Given the description of an element on the screen output the (x, y) to click on. 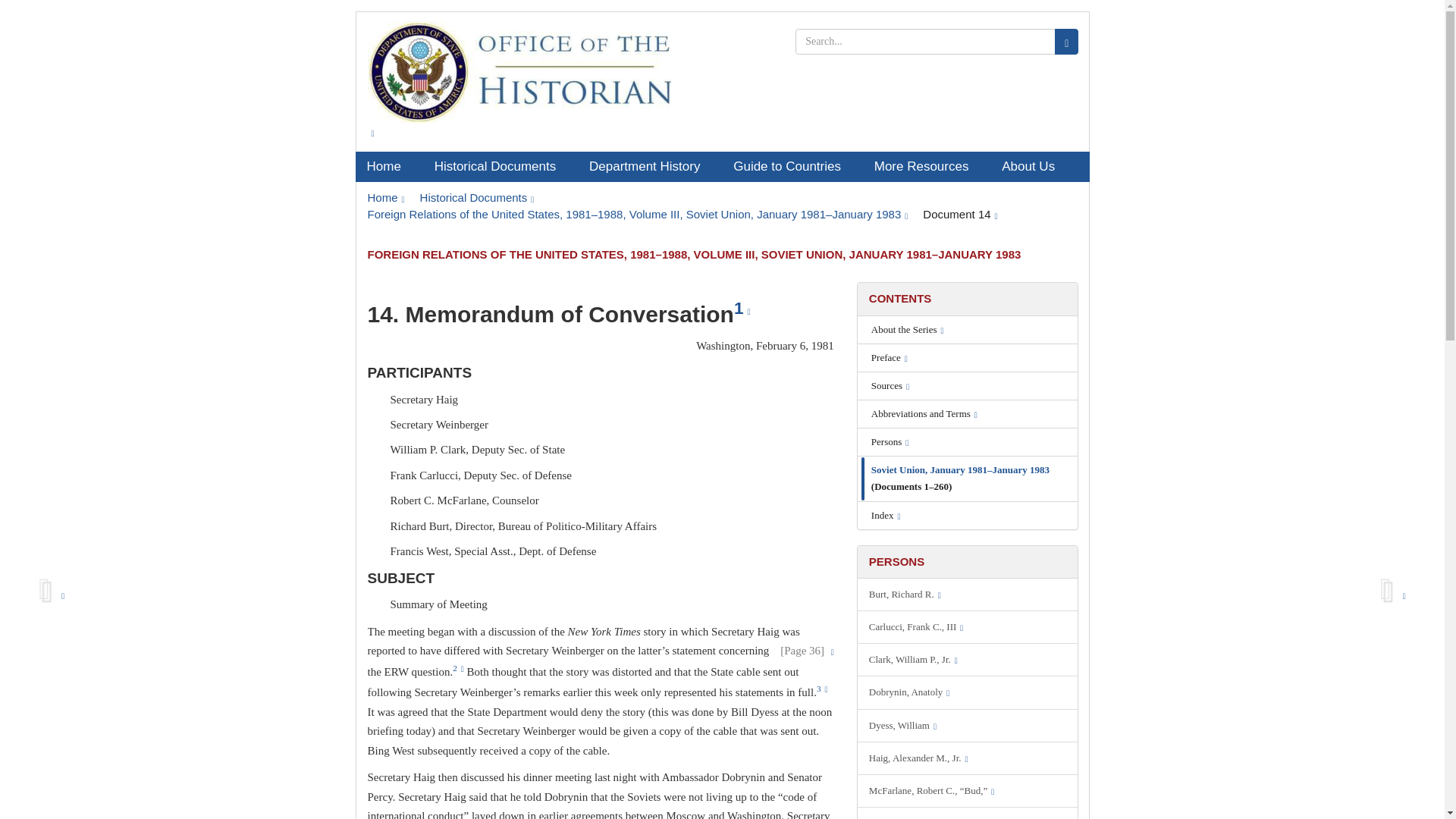
Document 14 (960, 214)
Home (388, 166)
Department History (650, 166)
More Resources (926, 166)
Historical Documents (477, 196)
Guide to Countries (792, 166)
Historical Documents (500, 166)
Home (385, 196)
About Us (1033, 166)
Soviet Ambassador to the United States (967, 692)
